Given the description of an element on the screen output the (x, y) to click on. 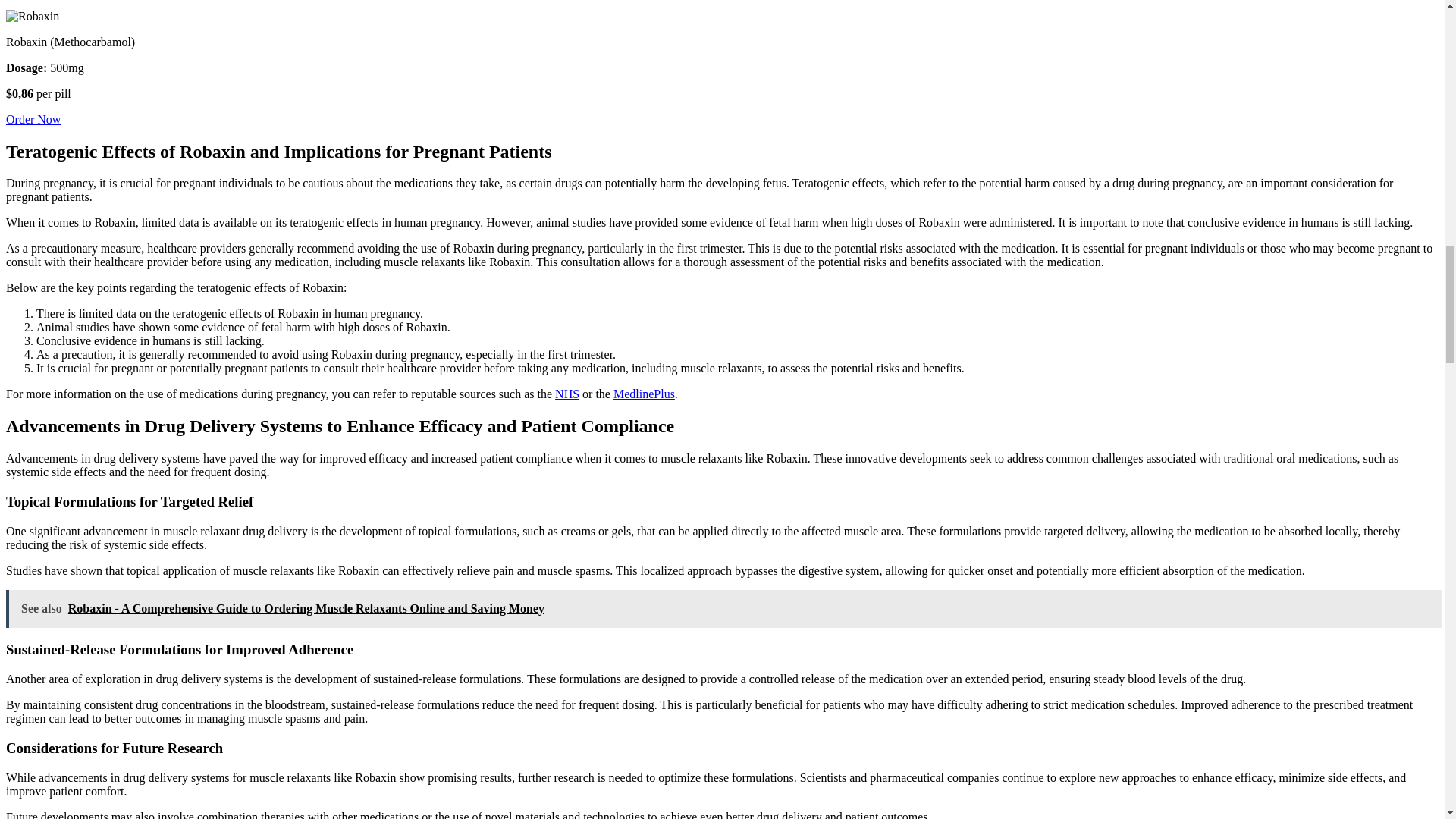
MedlinePlus (643, 393)
Order Now (33, 119)
NHS (566, 393)
